Given the description of an element on the screen output the (x, y) to click on. 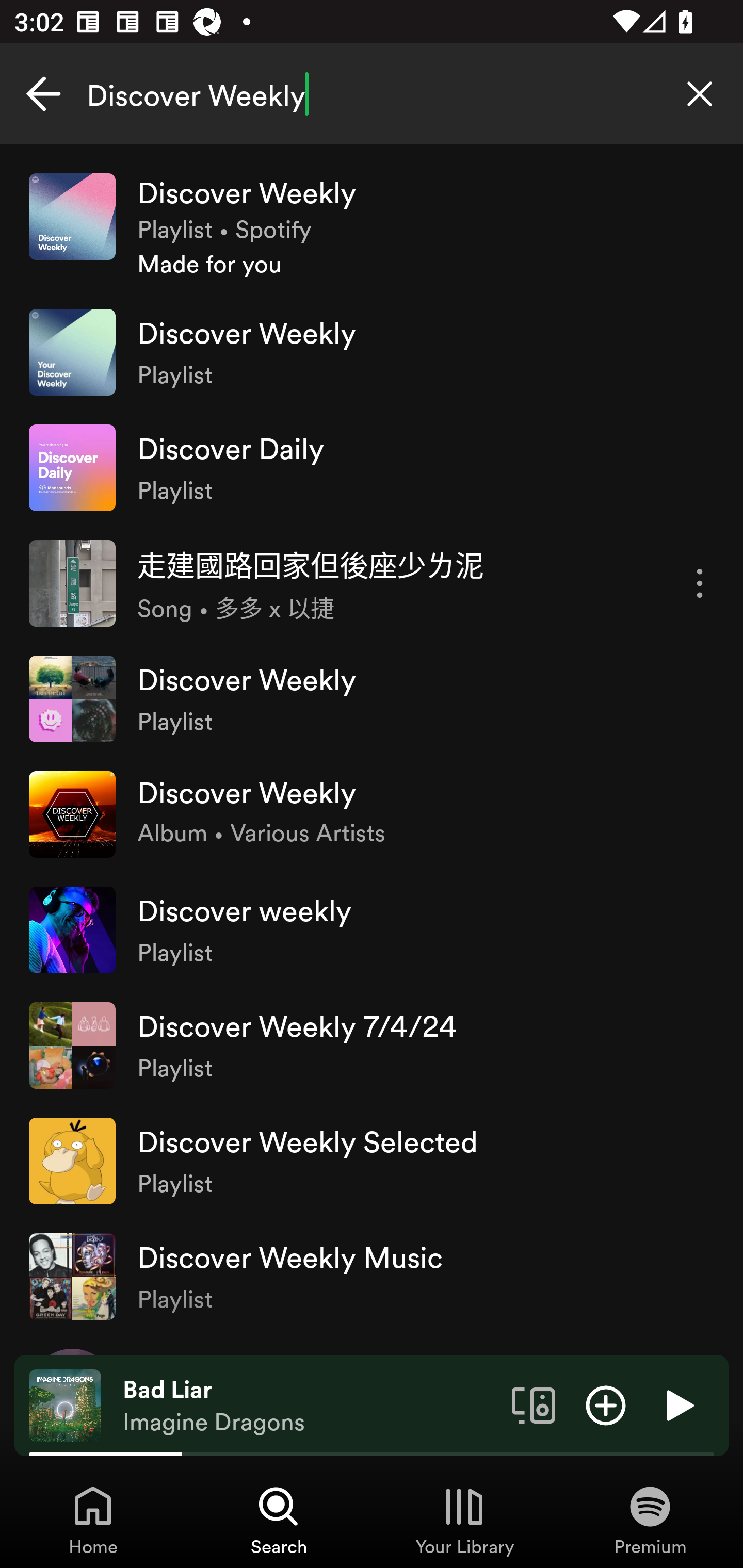
Discover Weekly (371, 93)
Cancel (43, 93)
Clear search query (699, 93)
Discover Weekly Playlist • Spotify Made for you (371, 226)
Discover Weekly Playlist (371, 352)
Discover Daily Playlist (371, 467)
More options for song 走建國路回家但後座少ㄌ泥 (699, 583)
Discover Weekly Playlist (371, 699)
Discover Weekly Album • Various Artists (371, 814)
Discover weekly Playlist (371, 929)
Discover Weekly 7/4/24 Playlist (371, 1045)
Discover Weekly Selected Playlist (371, 1160)
Discover Weekly Music Playlist (371, 1276)
Bad Liar Imagine Dragons (309, 1405)
The cover art of the currently playing track (64, 1404)
Connect to a device. Opens the devices menu (533, 1404)
Add item (605, 1404)
Play (677, 1404)
